Given the description of an element on the screen output the (x, y) to click on. 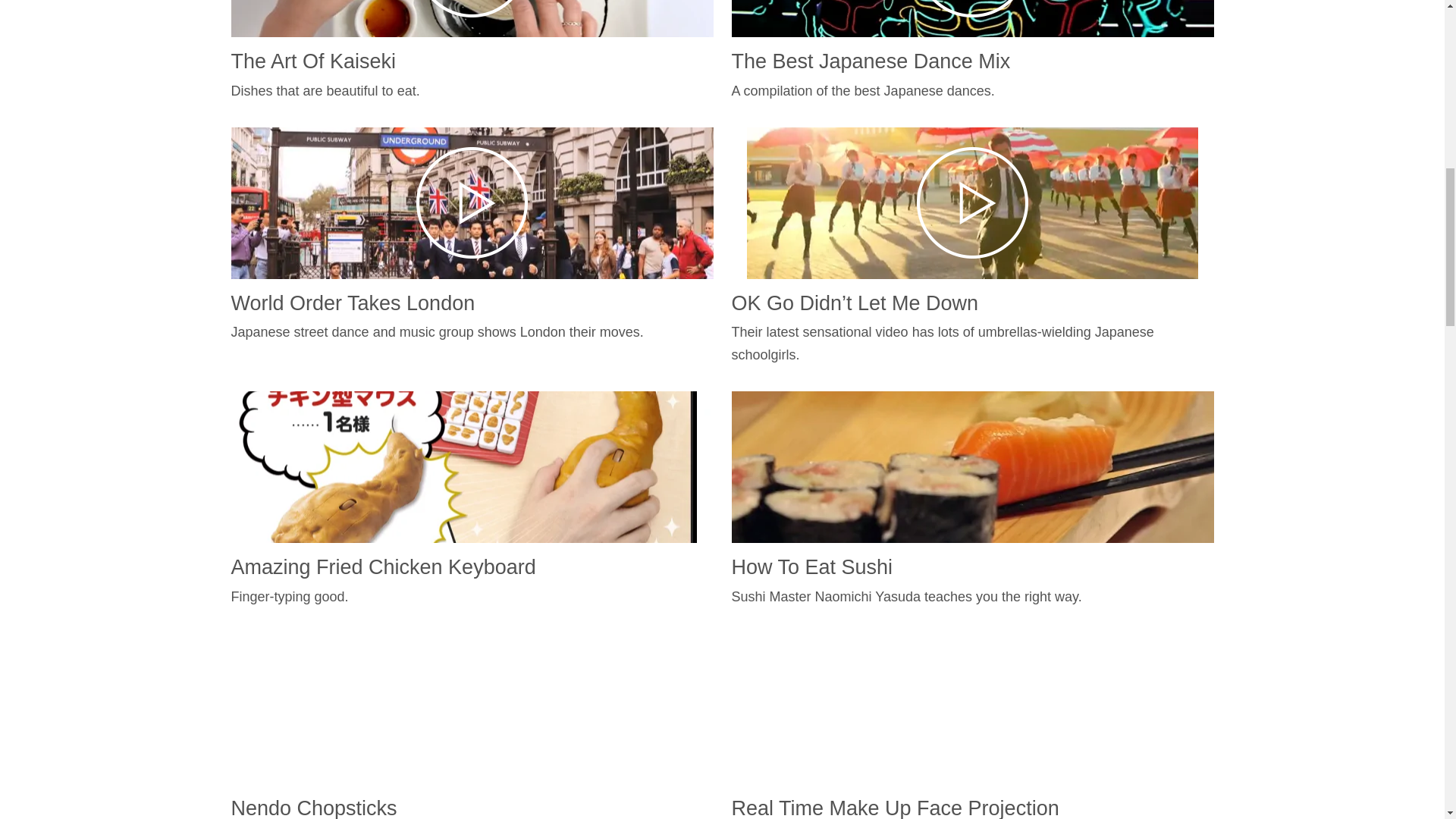
Nendo Chopsticks (313, 807)
World Order Takes London (352, 302)
Real Time Make Up Face Projection (894, 807)
The Art Of Kaiseki (313, 60)
The Best Japanese Dance Mix (870, 60)
Amazing Fried Chicken Keyboard (382, 567)
How To Eat Sushi (811, 567)
